Given the description of an element on the screen output the (x, y) to click on. 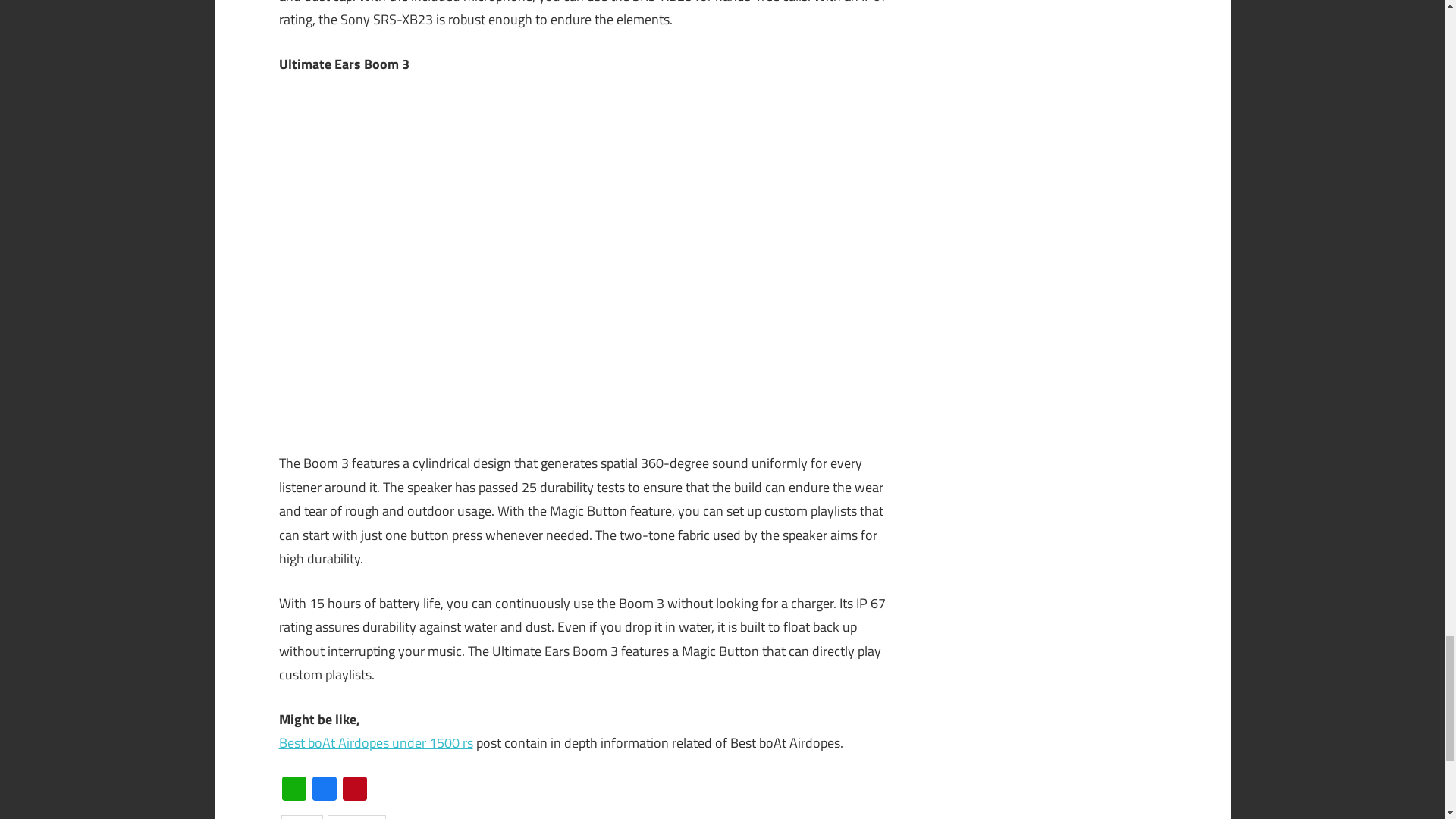
WhatsApp (293, 788)
Facebook (323, 788)
Best boAt Airdopes under 1500 rs (376, 742)
Pinterest (354, 788)
Travelling (356, 816)
Music (302, 816)
